Given the description of an element on the screen output the (x, y) to click on. 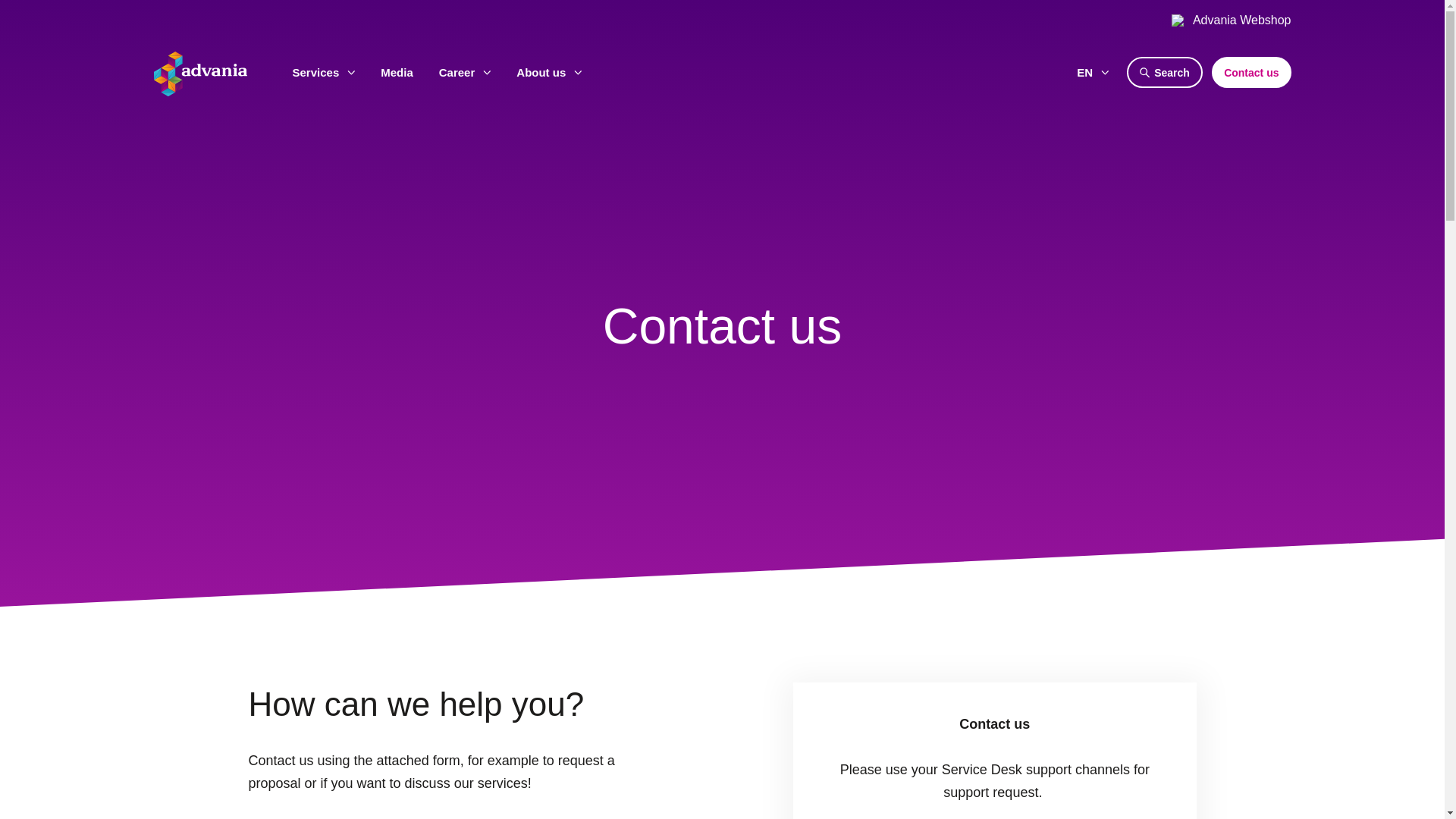
Services (323, 72)
Advania Webshop (1231, 19)
